Given the description of an element on the screen output the (x, y) to click on. 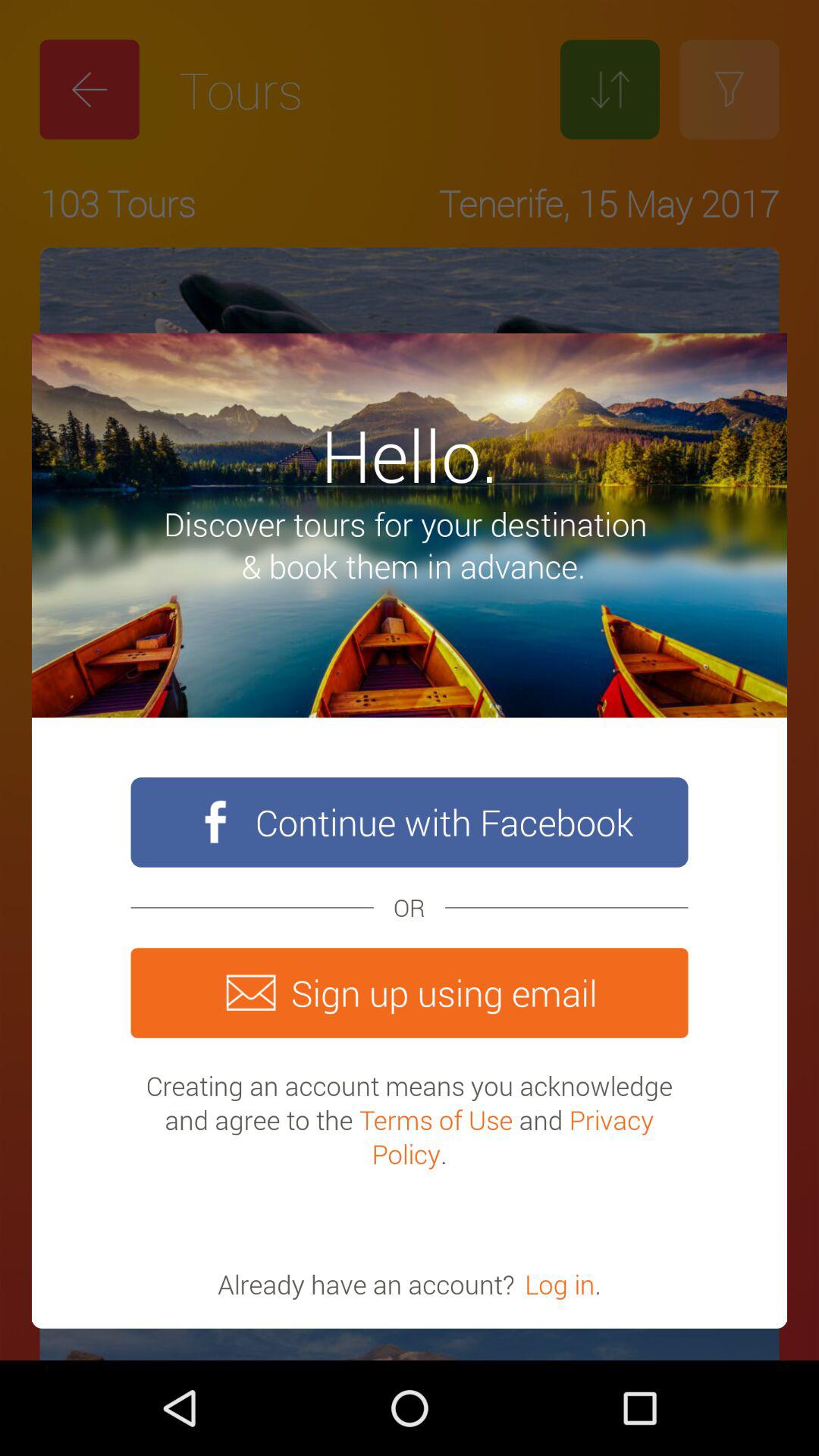
click icon to the left of . icon (559, 1283)
